Given the description of an element on the screen output the (x, y) to click on. 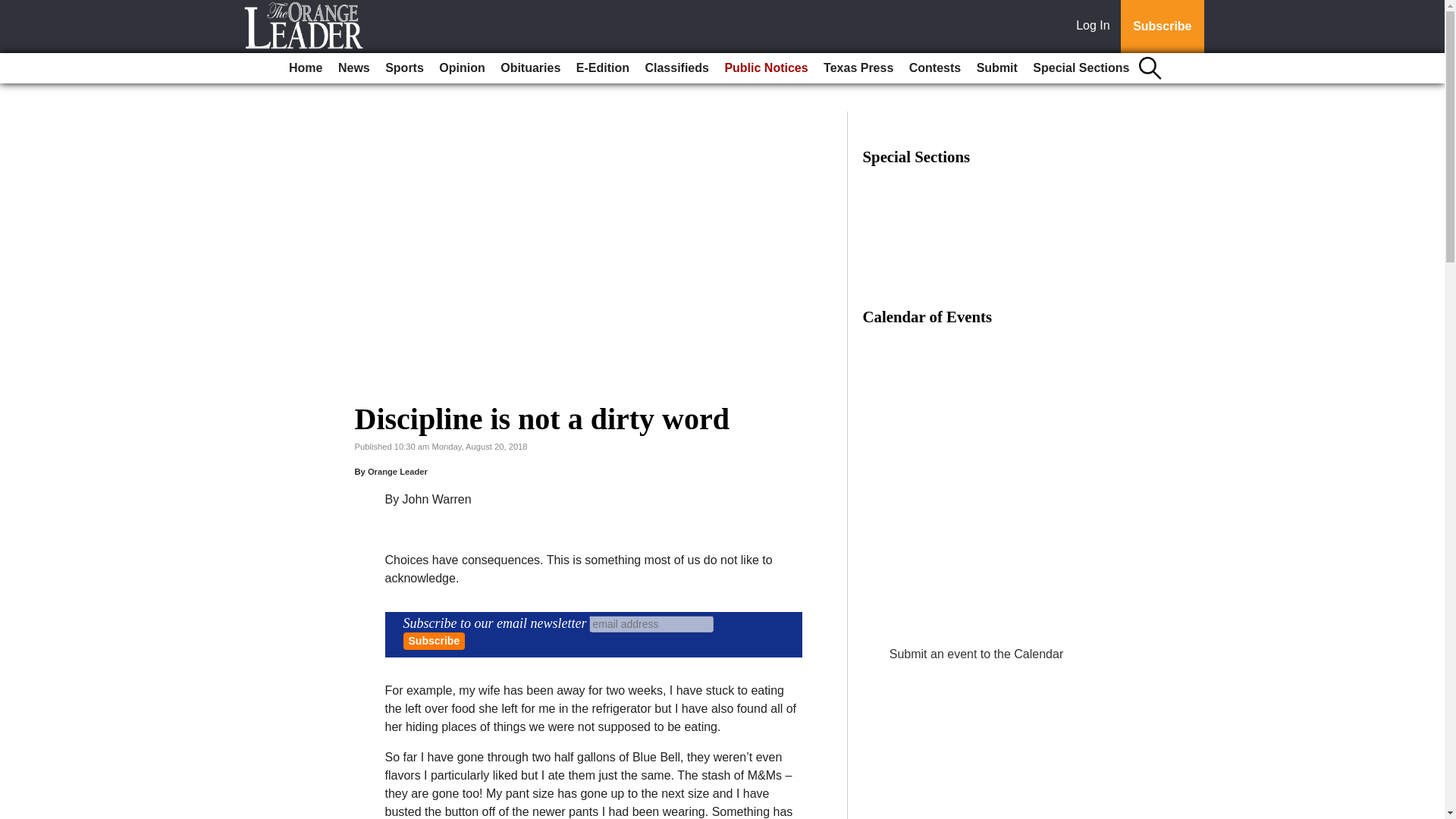
News (353, 68)
Go (13, 9)
Public Notices (765, 68)
Subscribe (434, 641)
Classifieds (676, 68)
Log In (1095, 26)
Home (305, 68)
Orange Leader (398, 470)
Sports (403, 68)
Obituaries (530, 68)
Texas Press (857, 68)
Contests (934, 68)
Subscribe (1162, 26)
Submit an event to the Calendar (975, 653)
Submit (997, 68)
